Given the description of an element on the screen output the (x, y) to click on. 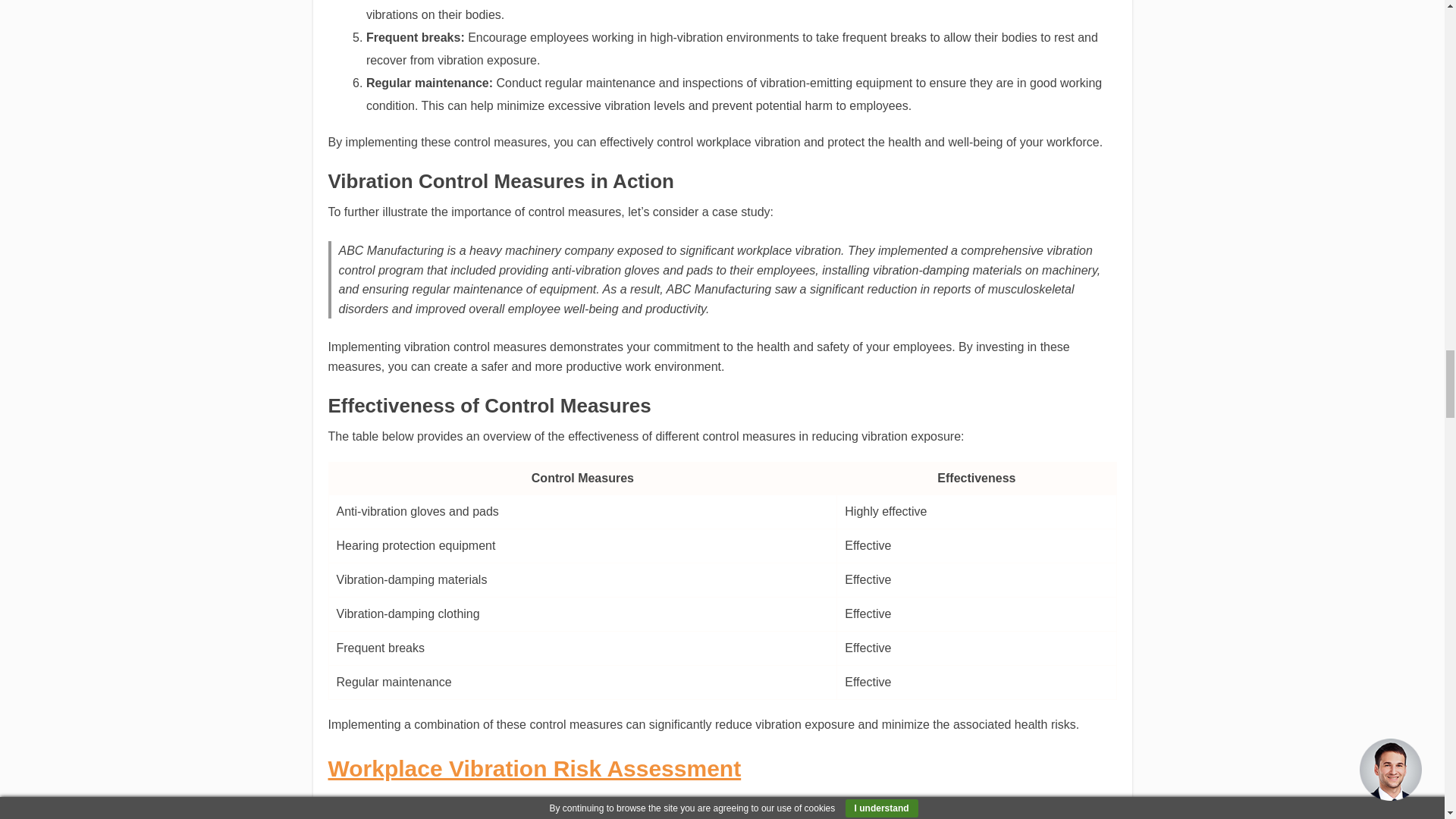
Workplace Vibration Risk Assessment (534, 768)
